Given the description of an element on the screen output the (x, y) to click on. 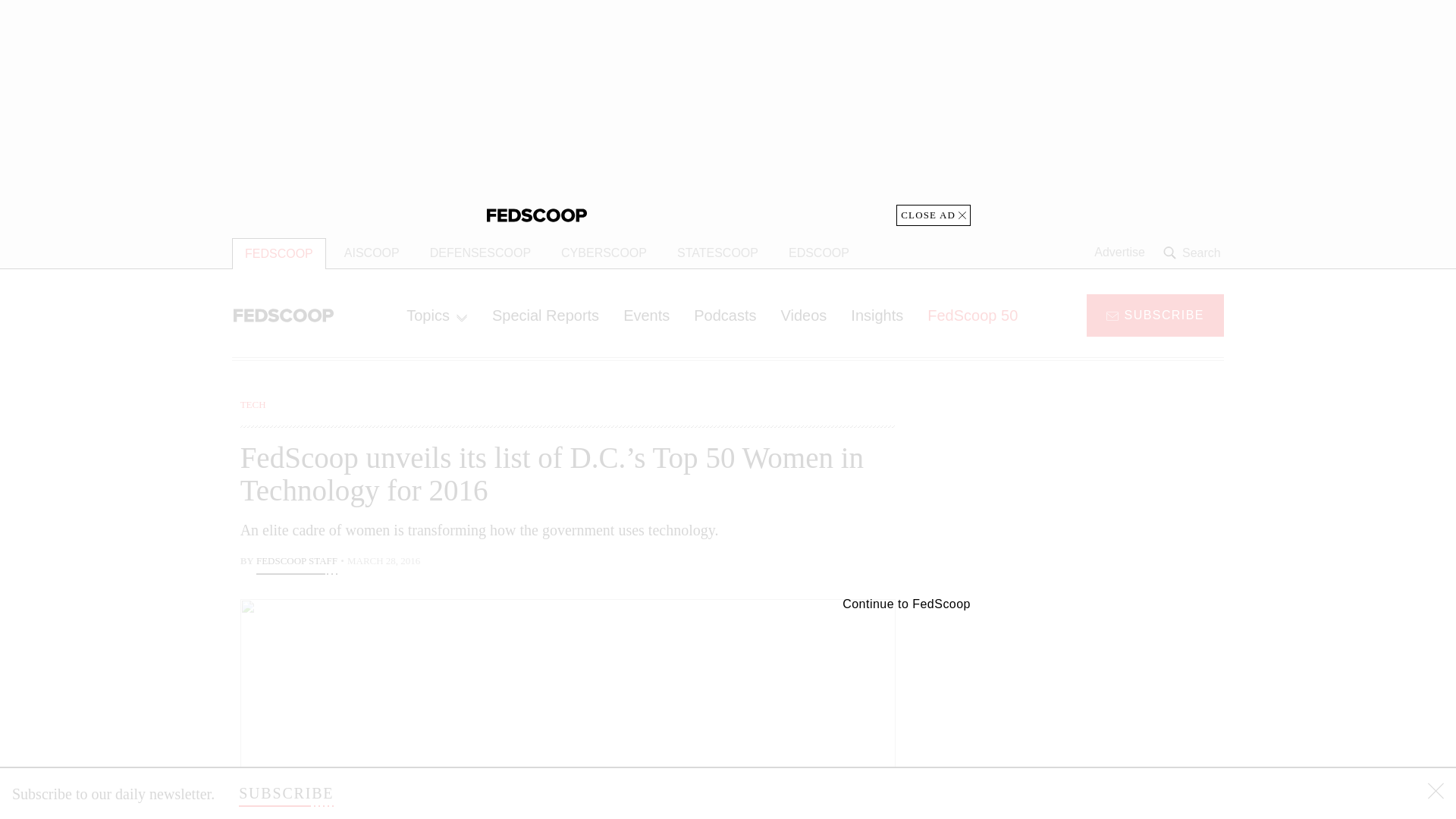
Videos (804, 315)
TECH (253, 404)
FEDSCOOP STAFF (296, 562)
Search (1193, 252)
STATESCOOP (717, 253)
SUBSCRIBE (285, 793)
EDSCOOP (818, 253)
FedScoop Staff (296, 562)
Events (646, 315)
